Given the description of an element on the screen output the (x, y) to click on. 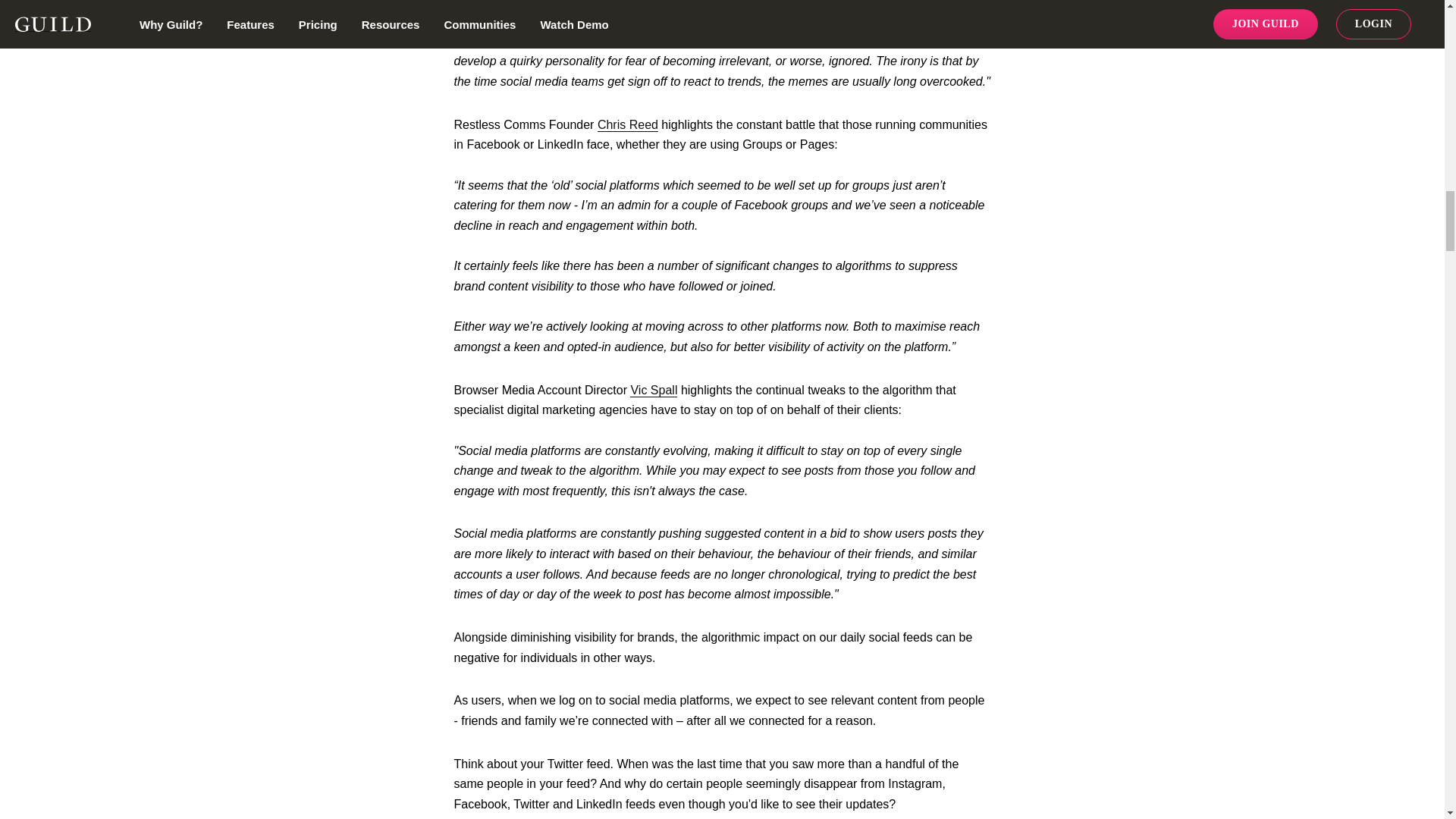
Chris Reed (627, 124)
Vic Spall (653, 390)
Harry Gardiner (861, 2)
